Given the description of an element on the screen output the (x, y) to click on. 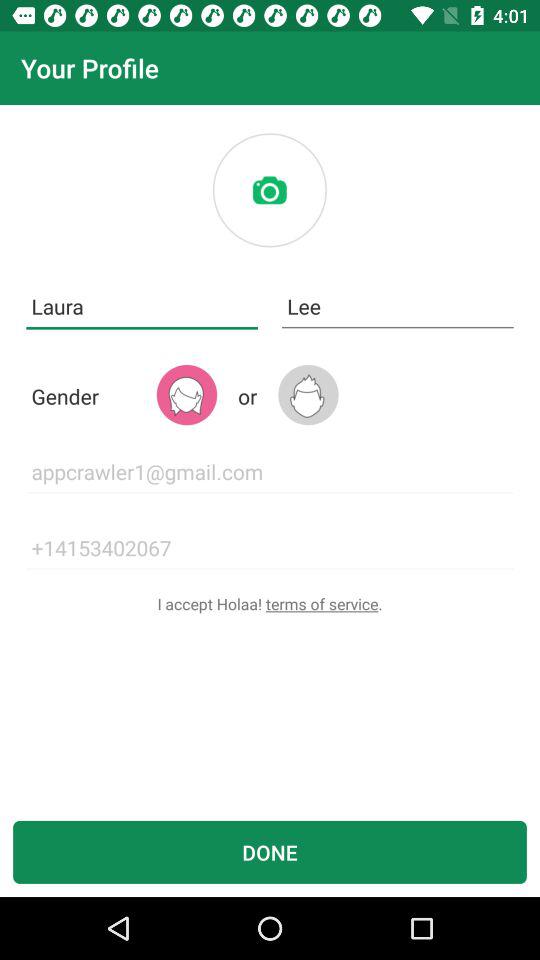
select female (186, 394)
